Given the description of an element on the screen output the (x, y) to click on. 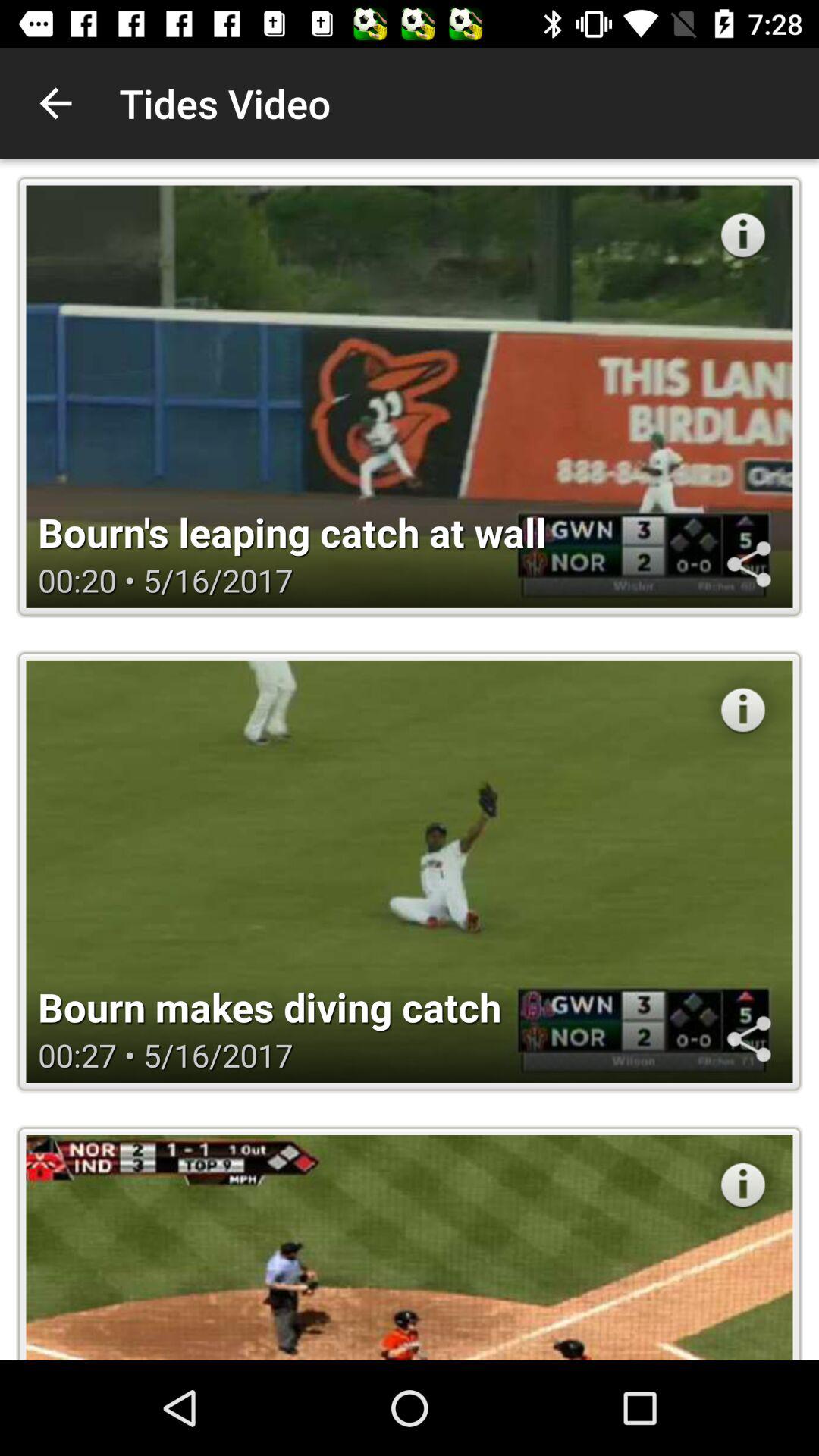
share the video (748, 564)
